Given the description of an element on the screen output the (x, y) to click on. 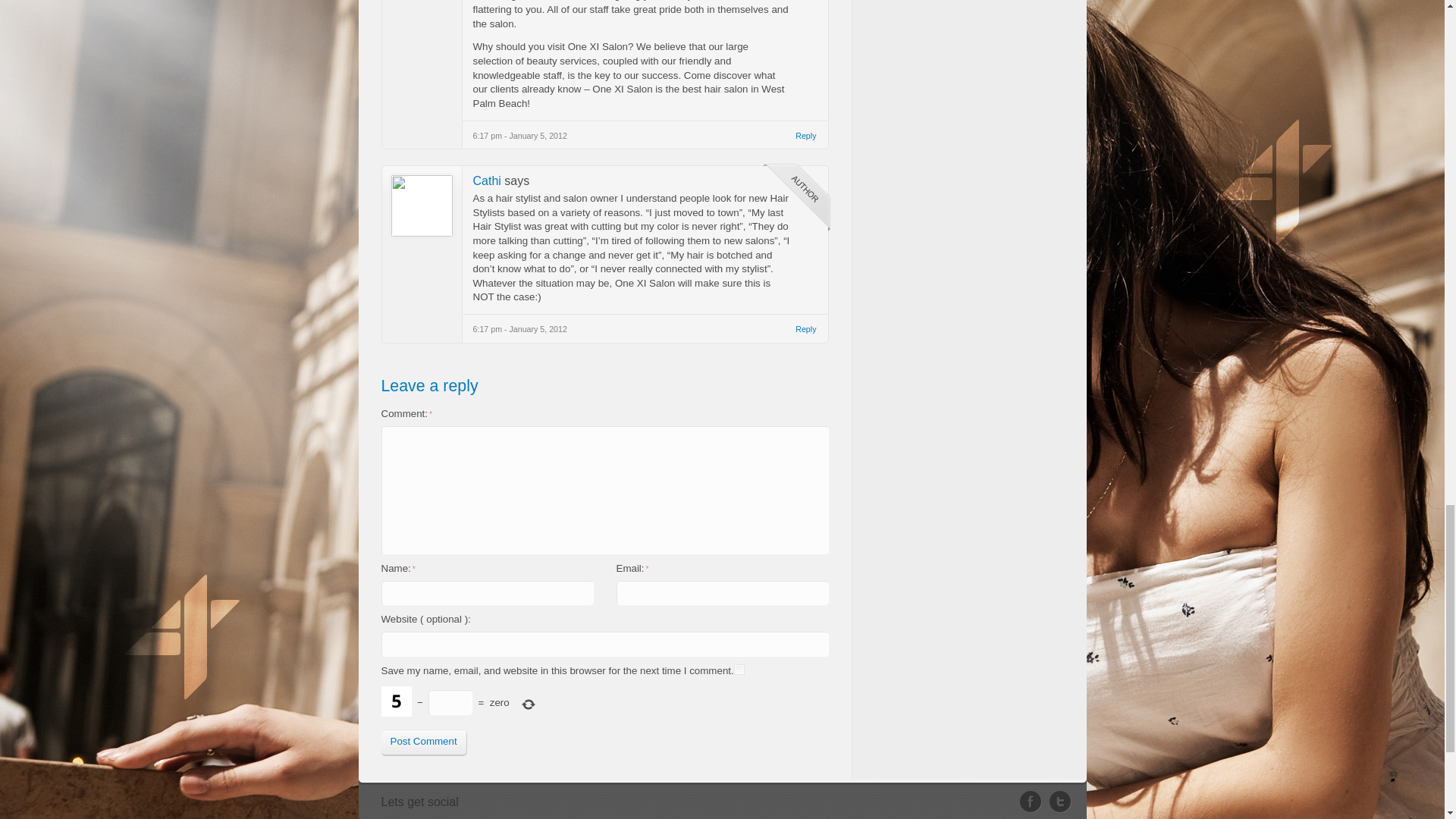
Facebook (1033, 802)
Reply (804, 135)
Reply (804, 329)
Post Comment (422, 743)
Twitter (1060, 802)
Post Comment (422, 743)
Twitter (1060, 802)
Facebook (1033, 802)
